Given the description of an element on the screen output the (x, y) to click on. 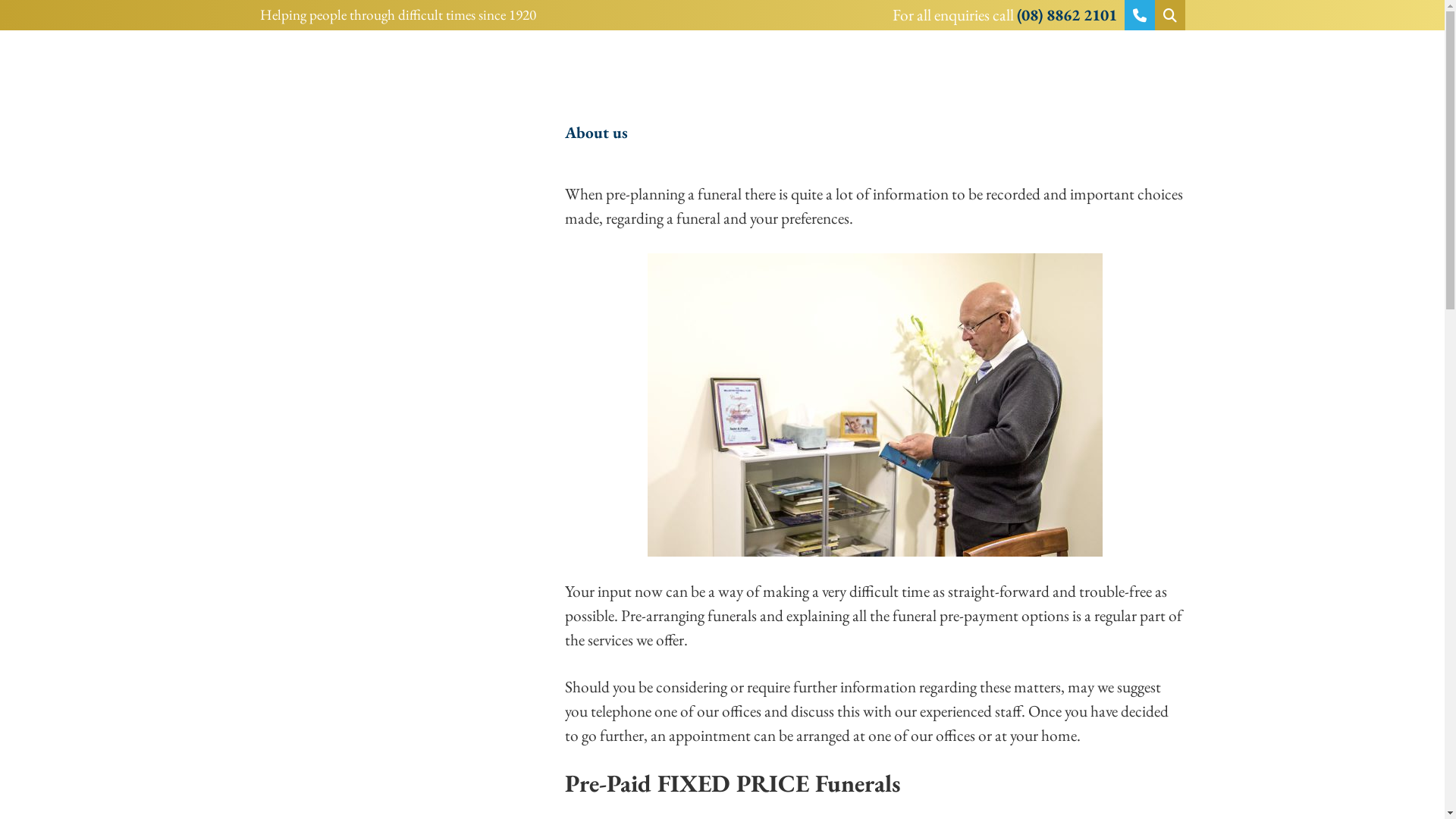
Community Support Element type: text (949, 171)
Livestreams Element type: text (612, 249)
Home Element type: text (403, 87)
Pre-planning Your Funeral Element type: text (654, 365)
Free Puzzle Books Element type: text (626, 210)
What to do Element type: text (874, 443)
When Someone Dies Element type: text (635, 481)
Who may need to be Advised of a Death Element type: text (846, 481)
Urns & Keepsake Jewellery Element type: text (892, 365)
Eulogy Element type: text (1010, 481)
Viewings Element type: text (1080, 365)
Employment Opportunities Element type: text (779, 171)
Testimonials Element type: text (1068, 171)
Our Location Element type: text (716, 249)
About us Element type: text (874, 132)
Funeral Costs & Options (including Pre-paid) Element type: text (859, 325)
Claim & Benefit Resources Element type: text (657, 521)
Coffins Element type: text (772, 365)
Grief Resources Element type: text (619, 404)
Arranging a Funeral Element type: text (631, 325)
Contact Us Element type: text (606, 560)
Catering Element type: text (1016, 365)
Company Profile Element type: text (622, 171)
Our Services Element type: text (874, 287)
